Given the description of an element on the screen output the (x, y) to click on. 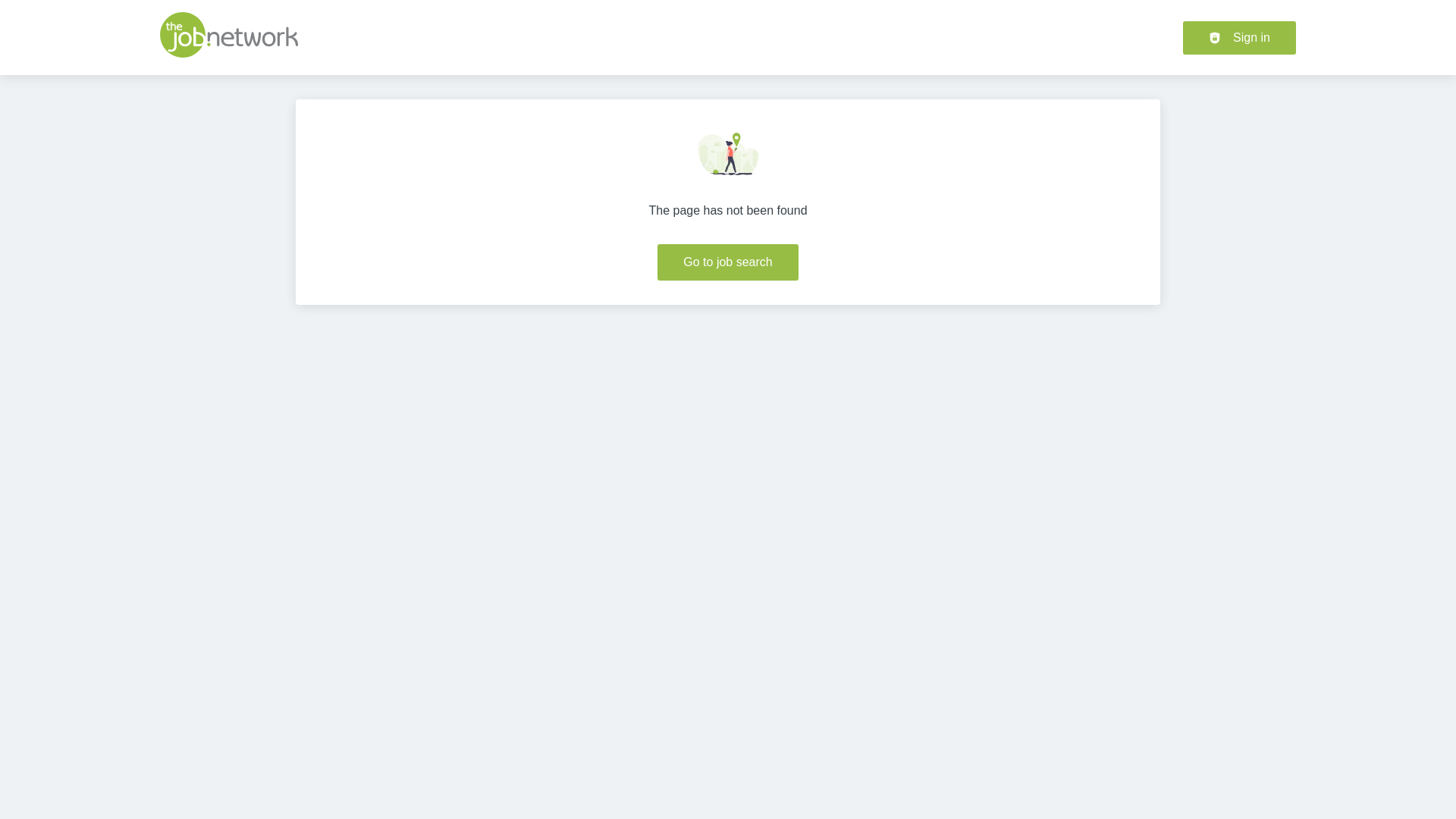
Sign in (1238, 37)
Go to job search (727, 262)
Page not found (727, 153)
